Given the description of an element on the screen output the (x, y) to click on. 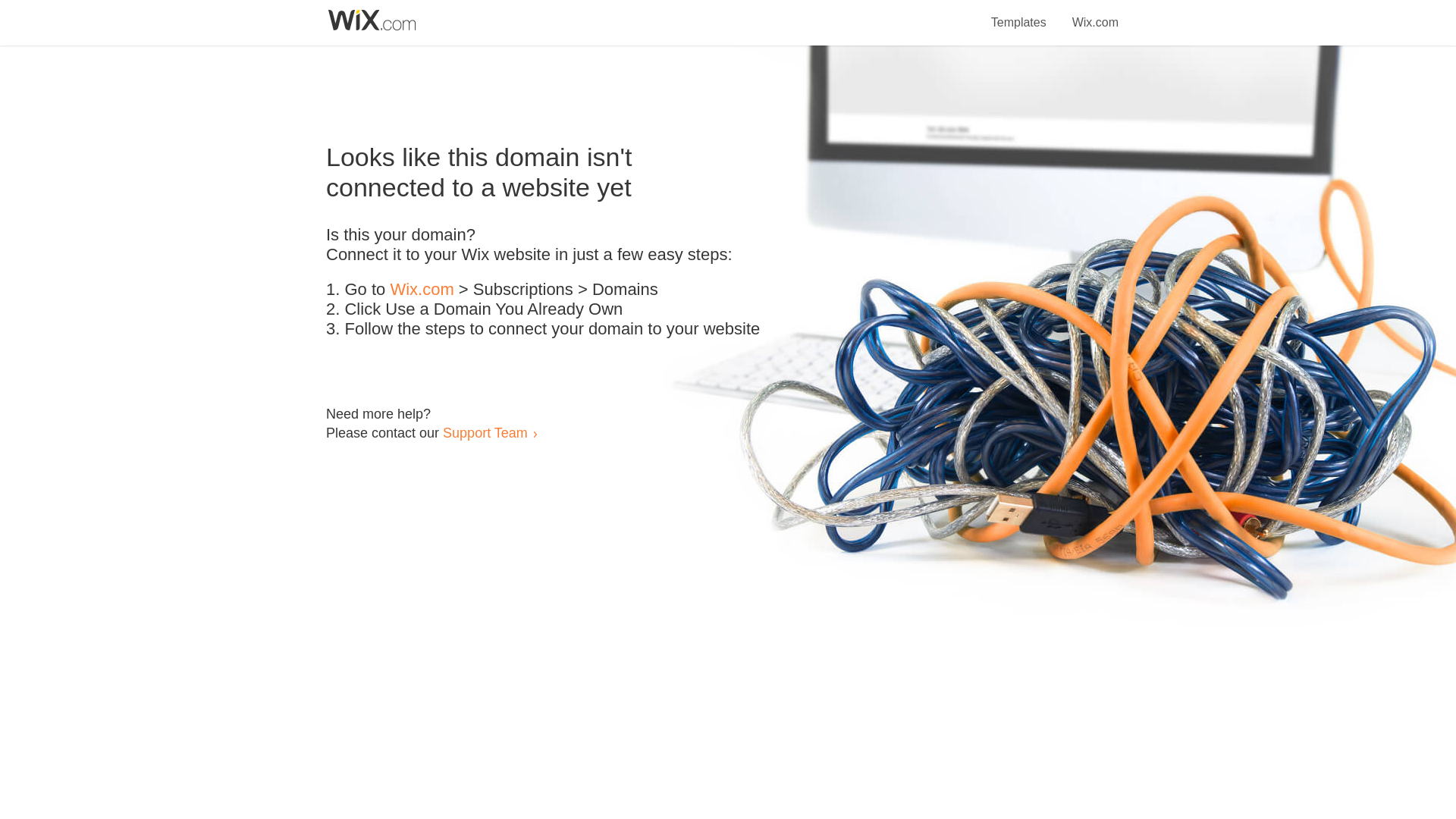
Templates (1018, 14)
Support Team (484, 432)
Wix.com (421, 289)
Wix.com (1095, 14)
